Given the description of an element on the screen output the (x, y) to click on. 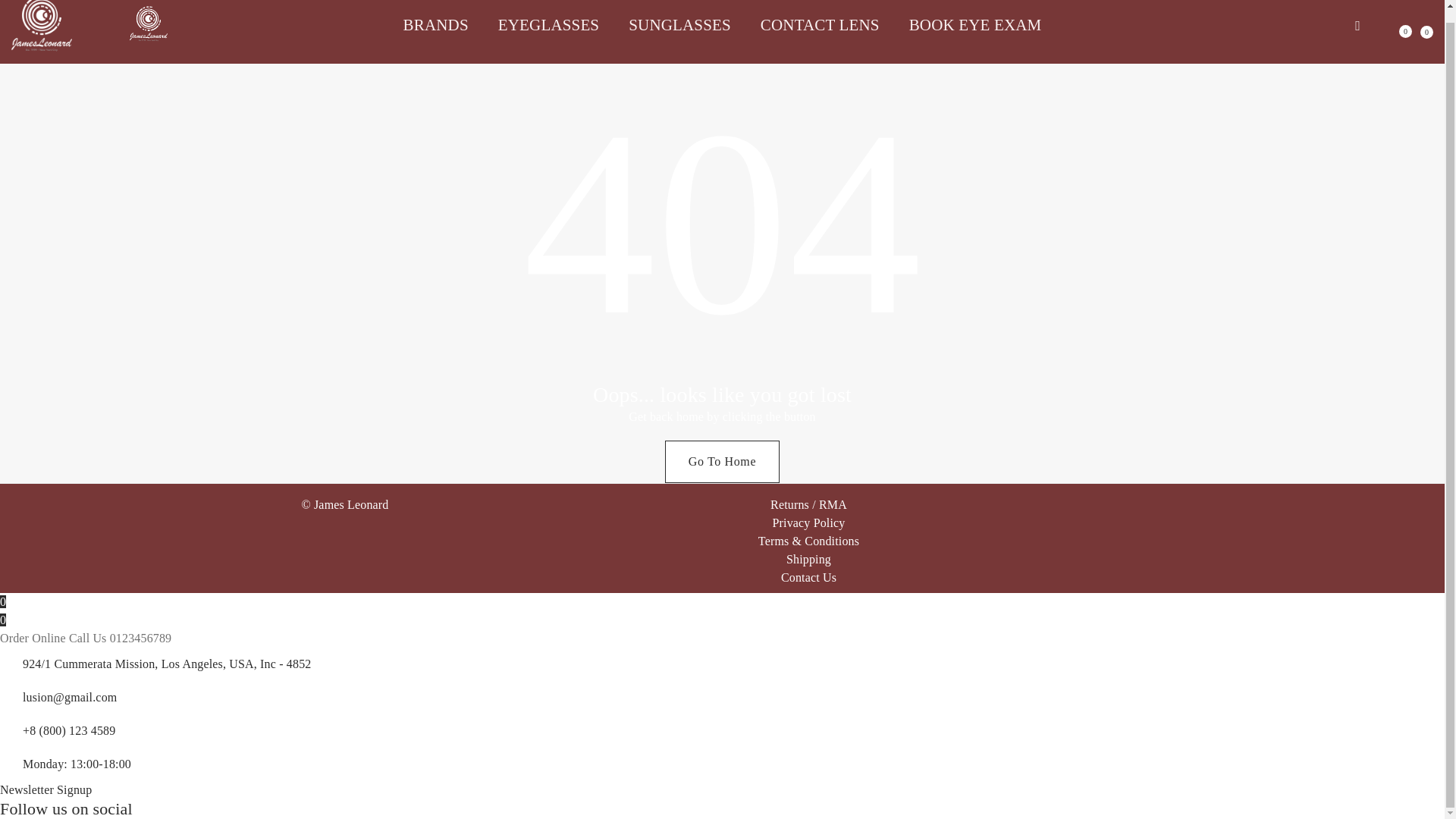
CONTACT LENS (820, 24)
BRANDS (443, 24)
Shipping (808, 558)
Privacy Policy (807, 522)
Go To Home (721, 461)
Newsletter Signup (45, 789)
Contact Us (807, 576)
James Leonard (351, 504)
0123456789 (140, 637)
SUNGLASSES (679, 24)
